Given the description of an element on the screen output the (x, y) to click on. 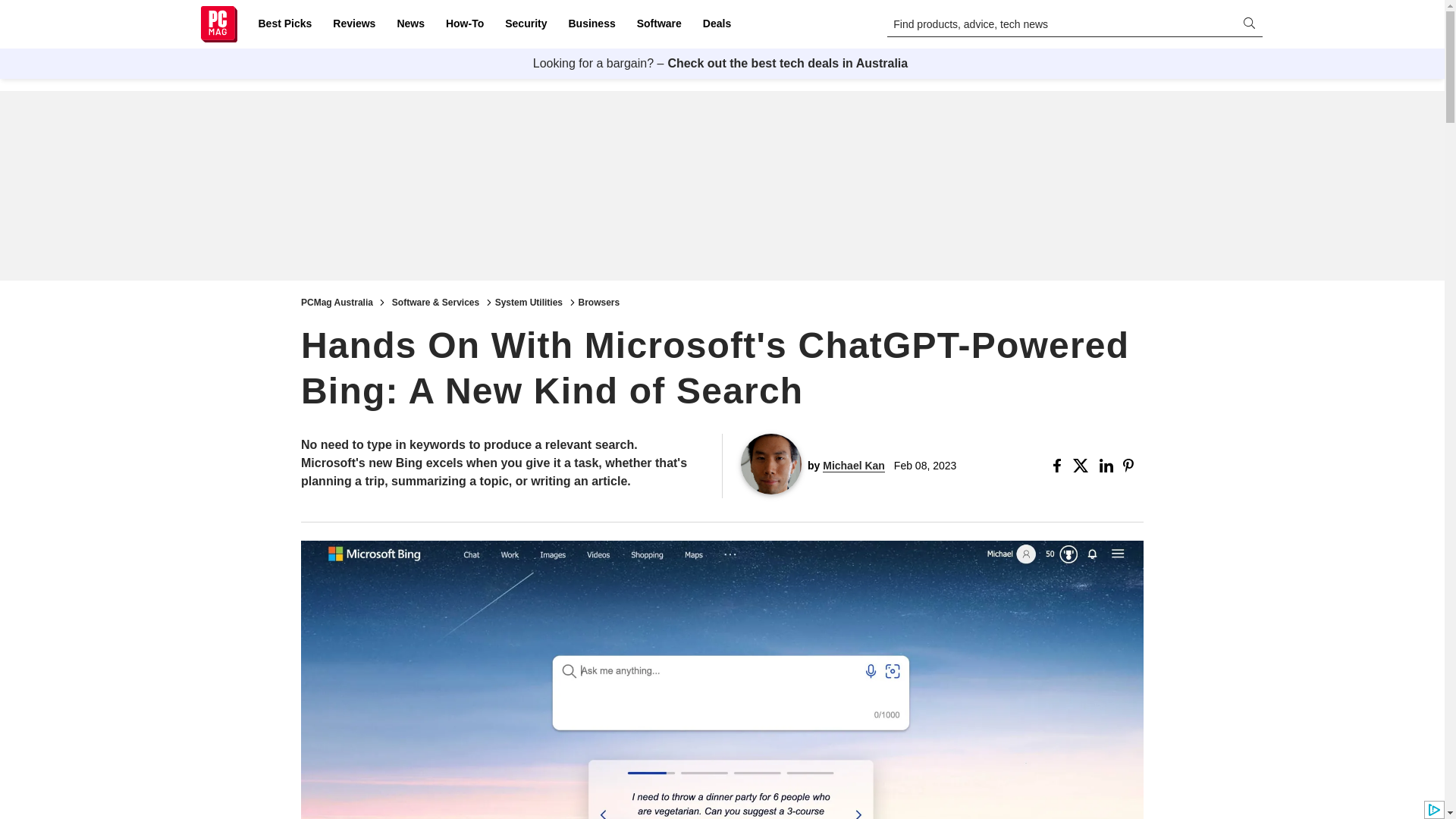
Share this Story on Pinterest (1132, 465)
Share this Story on Facebook (1059, 465)
Share this Story on Linkedin (1107, 465)
Best Picks (284, 24)
Security (526, 24)
Business (591, 24)
Reviews (353, 24)
Share this Story on X (1083, 465)
How-To (464, 24)
